Given the description of an element on the screen output the (x, y) to click on. 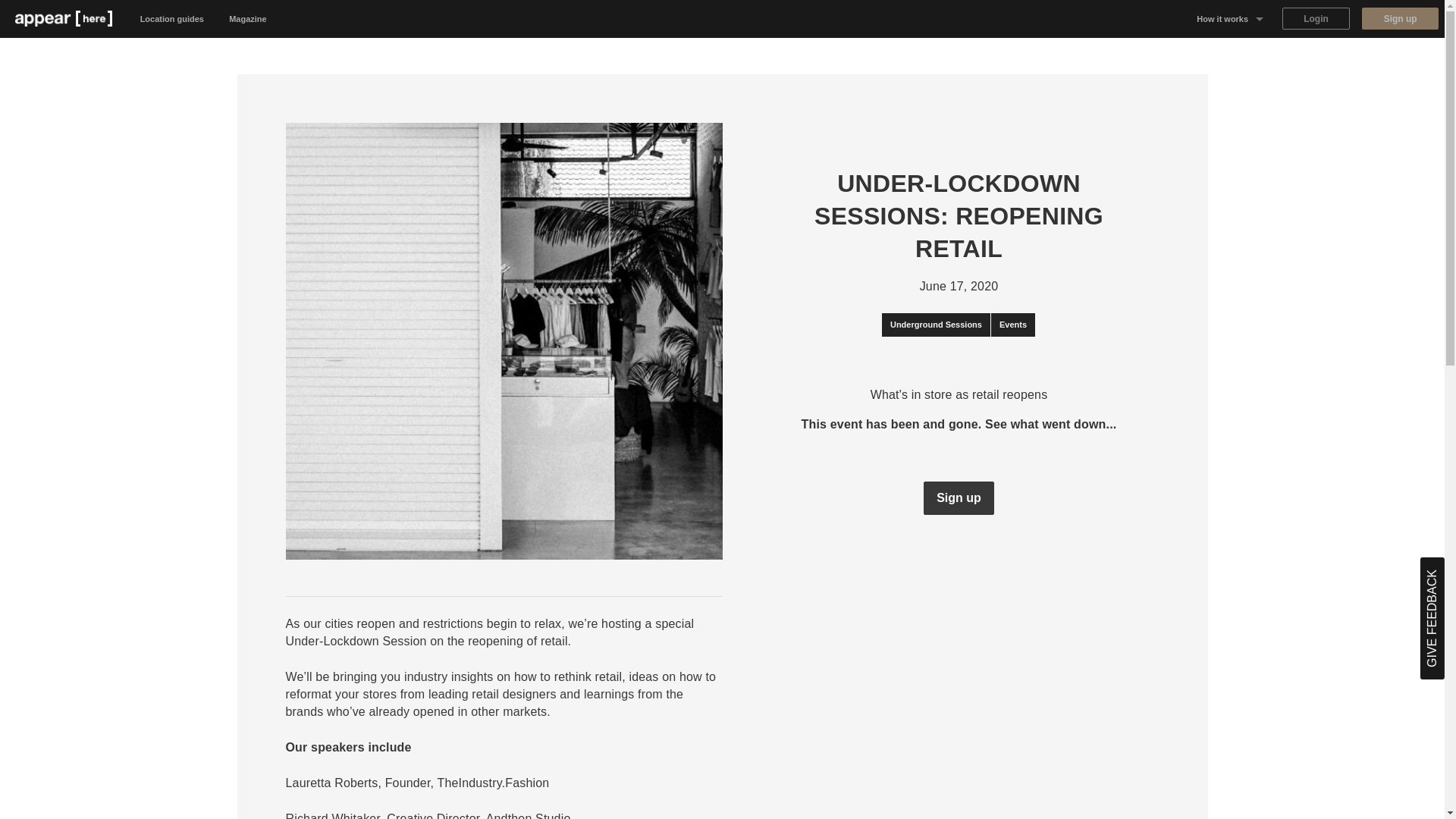
Location guides (172, 18)
How it works (1230, 18)
Magazine (247, 18)
